Given the description of an element on the screen output the (x, y) to click on. 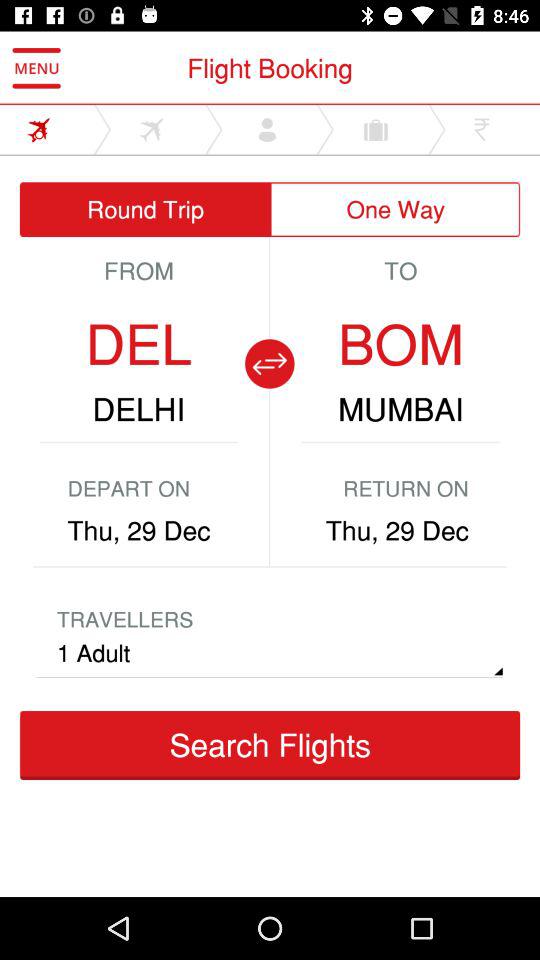
jump to del icon (138, 344)
